Given the description of an element on the screen output the (x, y) to click on. 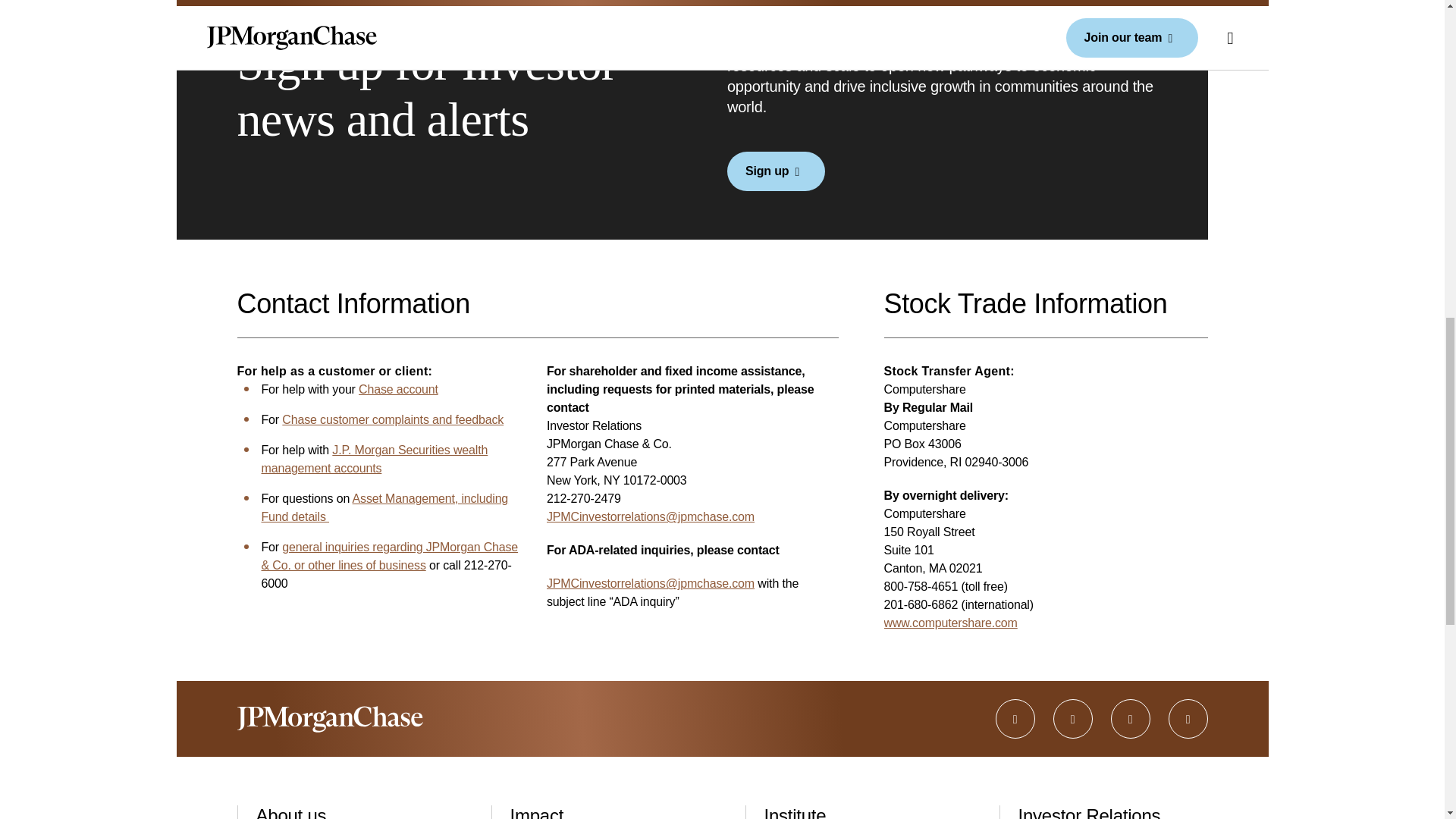
Click here to email JPMC investor relations mailbox (650, 583)
Securities Contact Us (373, 459)
Asset Management (384, 507)
Chase customer complaints and feedback (392, 419)
Chase account (398, 389)
jpmorgan Contant Us (389, 555)
Email (650, 516)
Computer Share (950, 622)
